Given the description of an element on the screen output the (x, y) to click on. 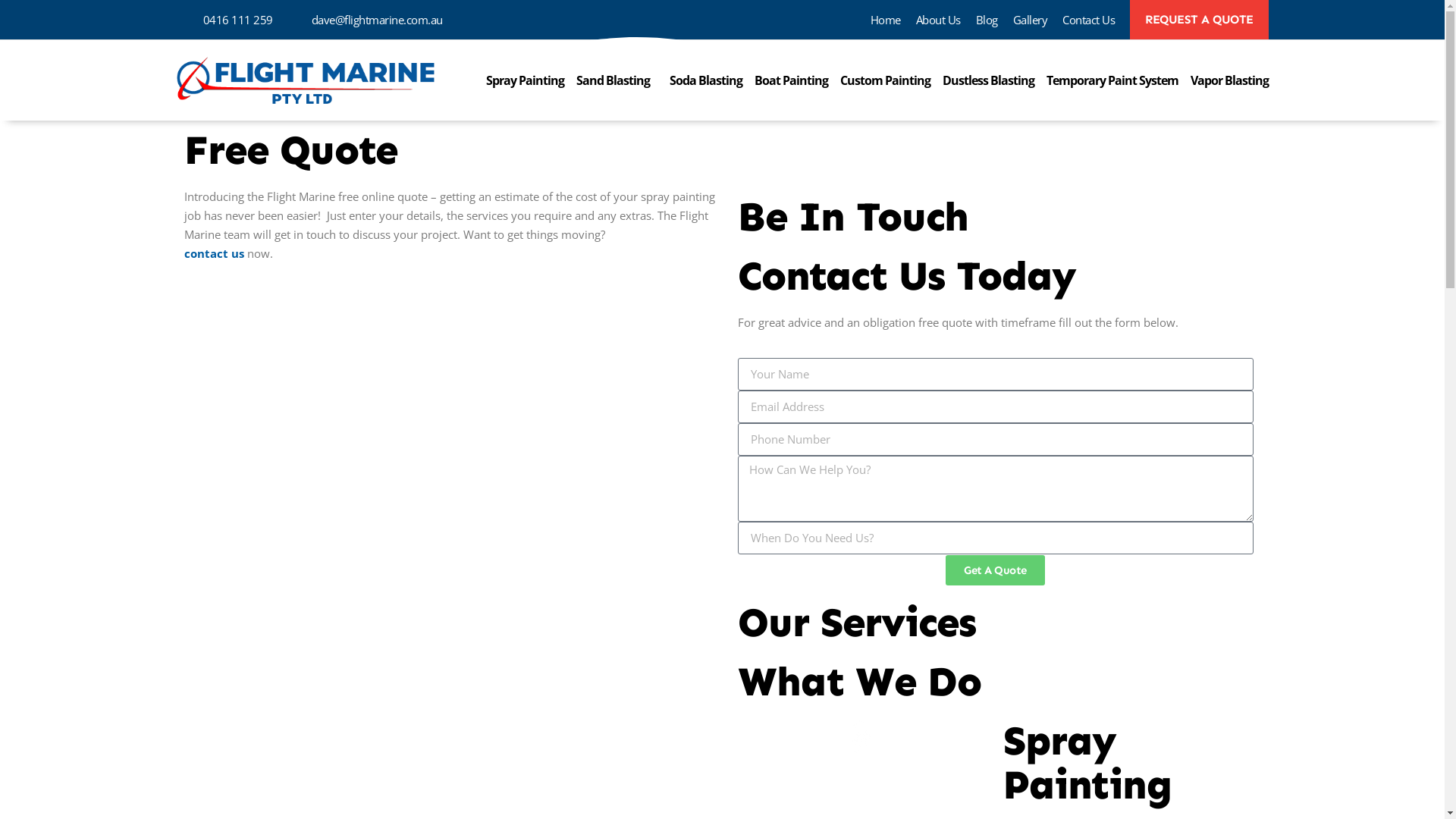
Custom Painting Element type: text (885, 80)
Temporary Paint System Element type: text (1112, 80)
Contact Us Element type: text (1088, 20)
About Us Element type: text (938, 20)
Spray Painting Element type: text (1086, 762)
Get A Quote Element type: text (994, 570)
Home Element type: text (885, 20)
contact us Element type: text (213, 252)
Soda Blasting Element type: text (704, 80)
Spray Painting Element type: text (524, 80)
Dustless Blasting Element type: text (987, 80)
Gallery Element type: text (1030, 20)
REQUEST A QUOTE Element type: text (1198, 19)
Boat Painting Element type: text (790, 80)
Vapor Blasting Element type: text (1229, 80)
Blog Element type: text (986, 20)
dave@flightmarine.com.au Element type: text (363, 19)
Sand Blasting Element type: text (616, 80)
005-spray-paint-gun Element type: hover (862, 735)
0416 111 259 Element type: text (223, 19)
